Given the description of an element on the screen output the (x, y) to click on. 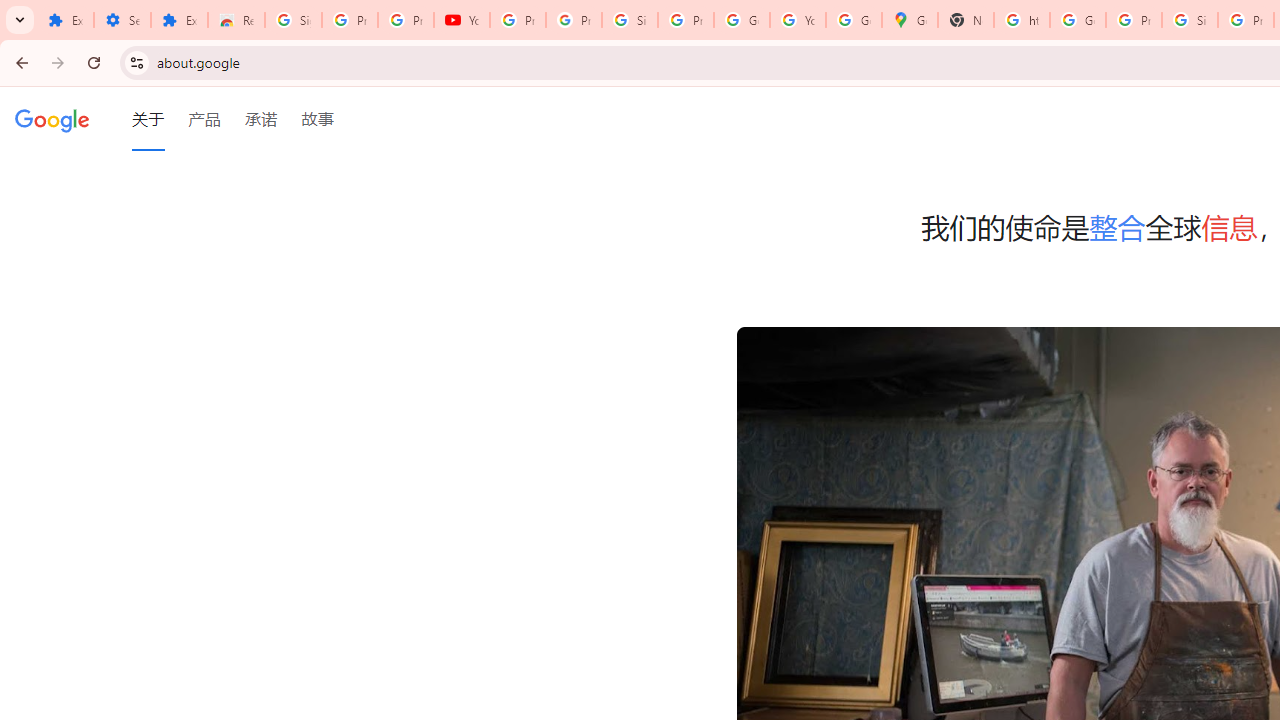
Sign in - Google Accounts (629, 20)
Settings (122, 20)
Extensions (179, 20)
YouTube (797, 20)
Extensions (65, 20)
